Given the description of an element on the screen output the (x, y) to click on. 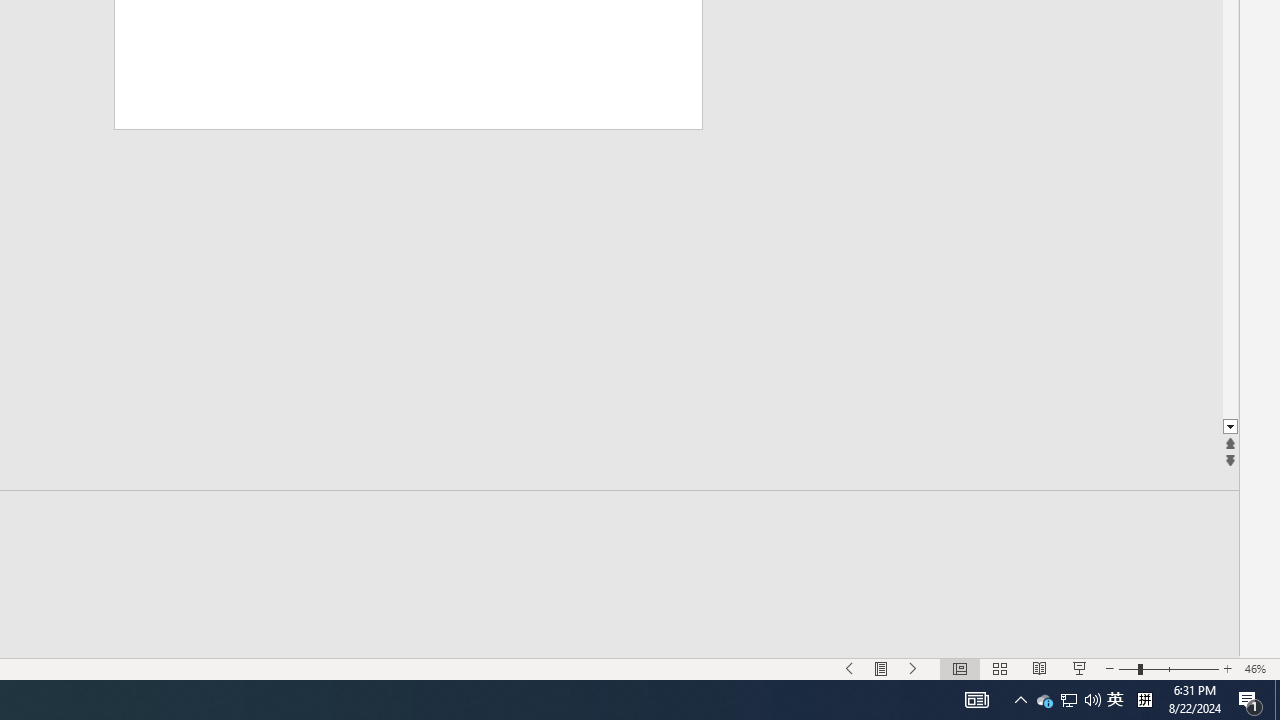
Zoom 46% (1115, 699)
Slide Show Next On (1258, 668)
Menu On (914, 668)
Action Center, 1 new notification (882, 668)
Line down (1250, 699)
Tray Input Indicator - Chinese (Simplified, China) (1230, 427)
Q2790: 100% (1144, 699)
